Given the description of an element on the screen output the (x, y) to click on. 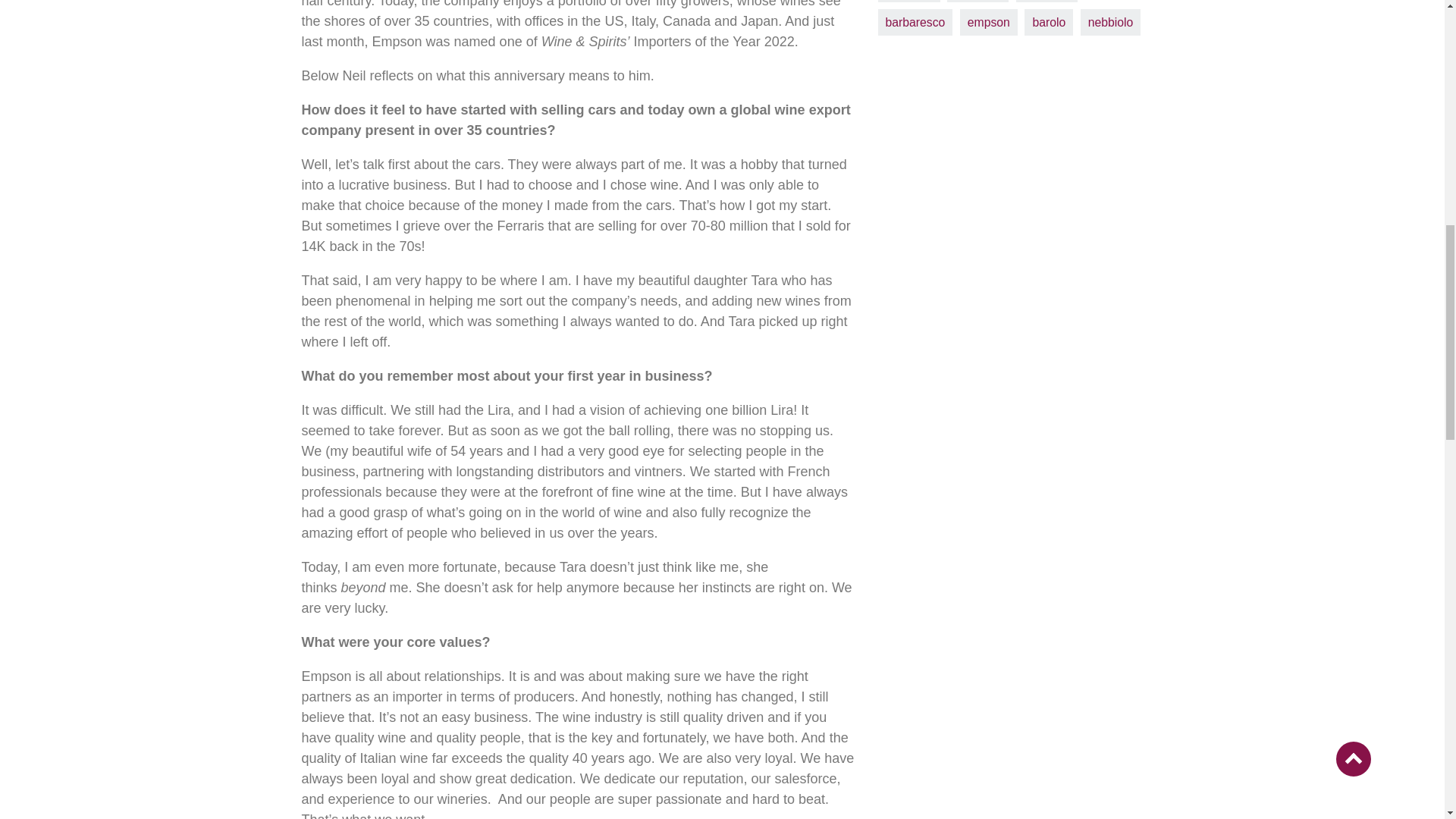
gattinara (1046, 1)
ghemme (978, 1)
barolo (1049, 22)
empson (988, 22)
barbaresco (915, 22)
amarone (908, 1)
